Given the description of an element on the screen output the (x, y) to click on. 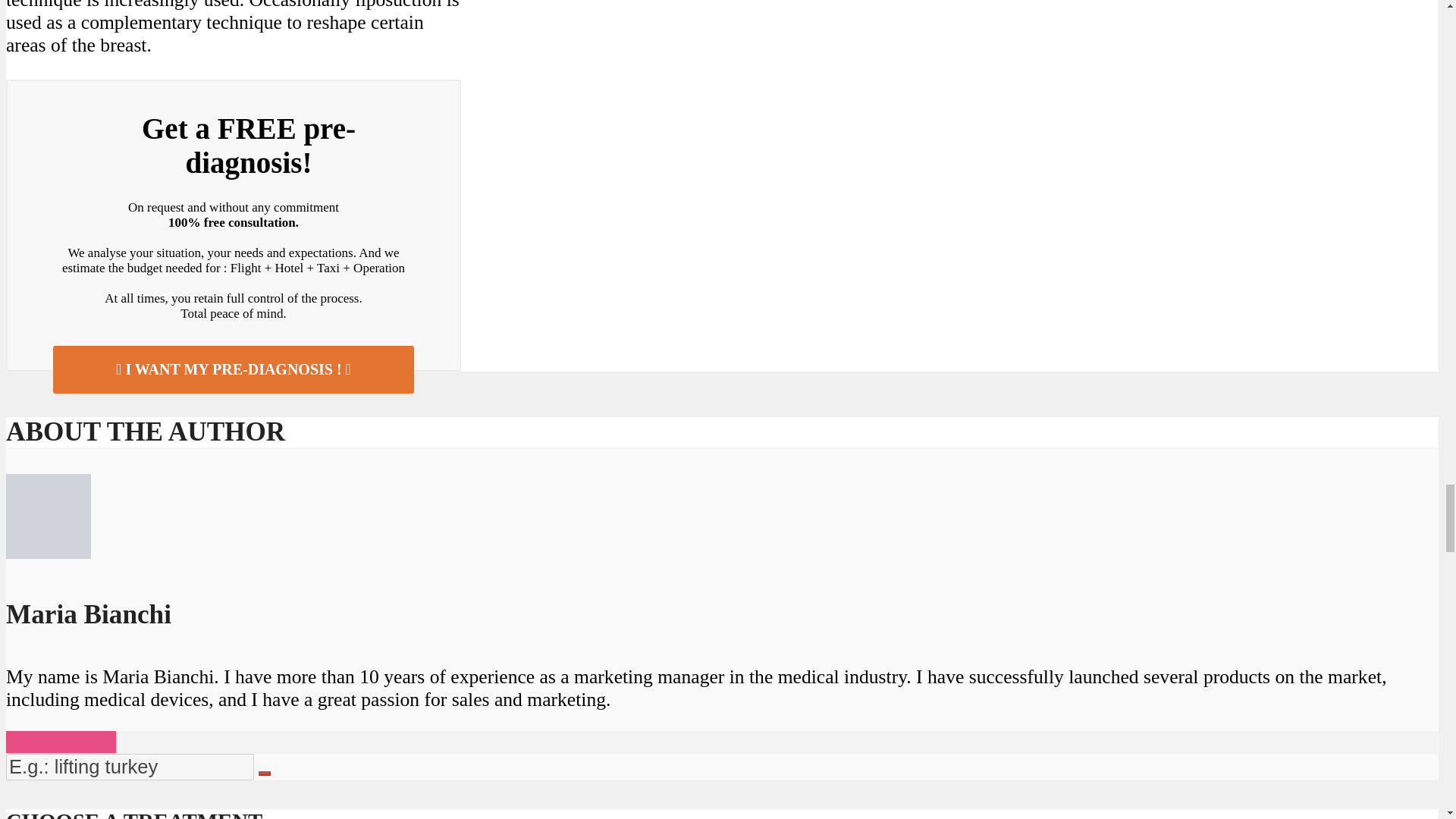
E.g.: lifting turkey (129, 766)
E.g.: lifting turkey (129, 766)
